Given the description of an element on the screen output the (x, y) to click on. 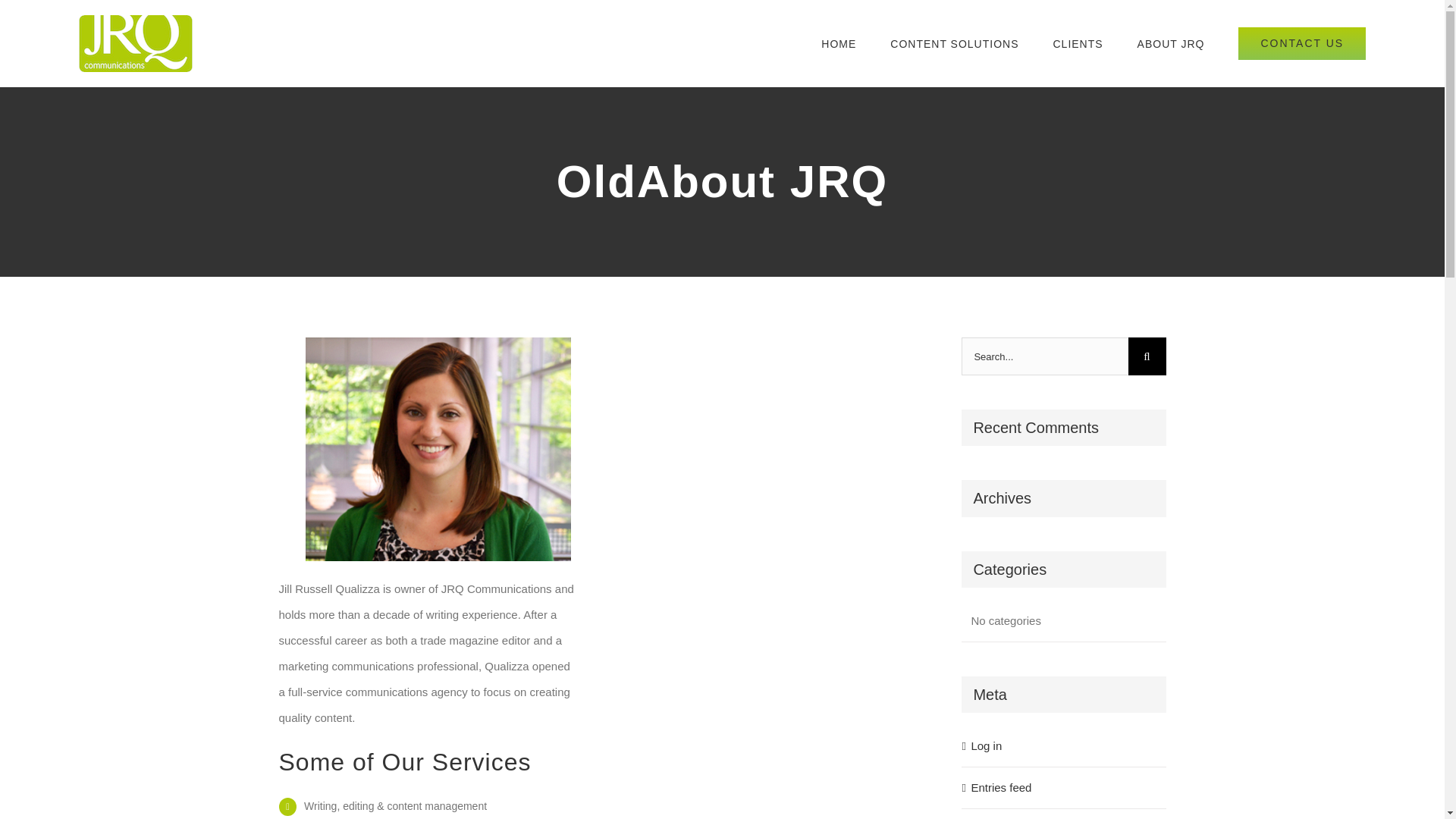
CONTENT SOLUTIONS (953, 43)
CONTACT US (1302, 43)
Log in (986, 745)
Entries feed (1000, 787)
